Given the description of an element on the screen output the (x, y) to click on. 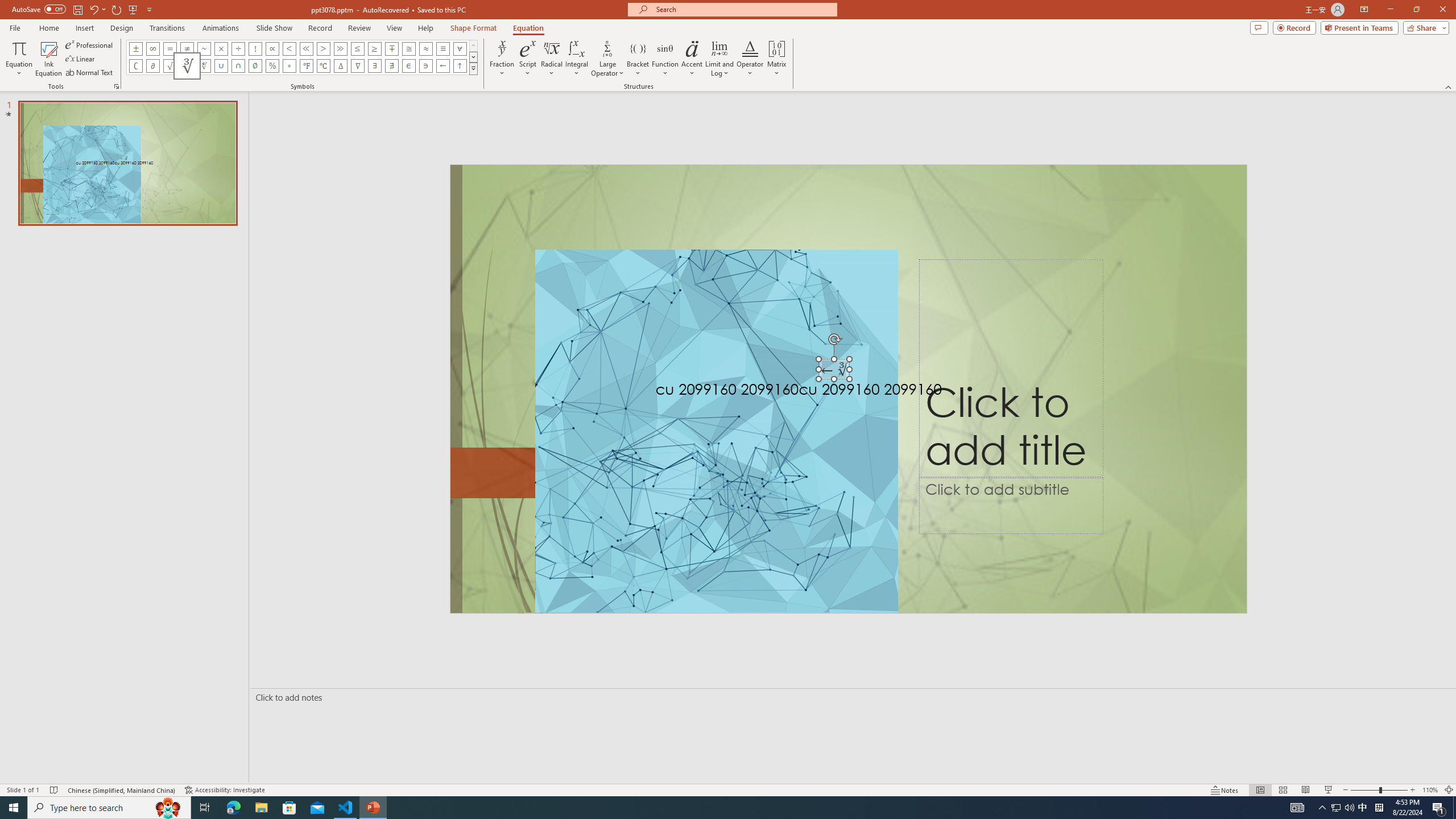
Limit and Log (719, 58)
Equation Symbol Plus Minus (136, 48)
Equation (528, 28)
Equation Symbol Percentage (272, 65)
Equation Symbol Contains as Member (425, 65)
Equation Symbol Infinity (152, 48)
Equation Symbol Greater Than (322, 48)
